Given the description of an element on the screen output the (x, y) to click on. 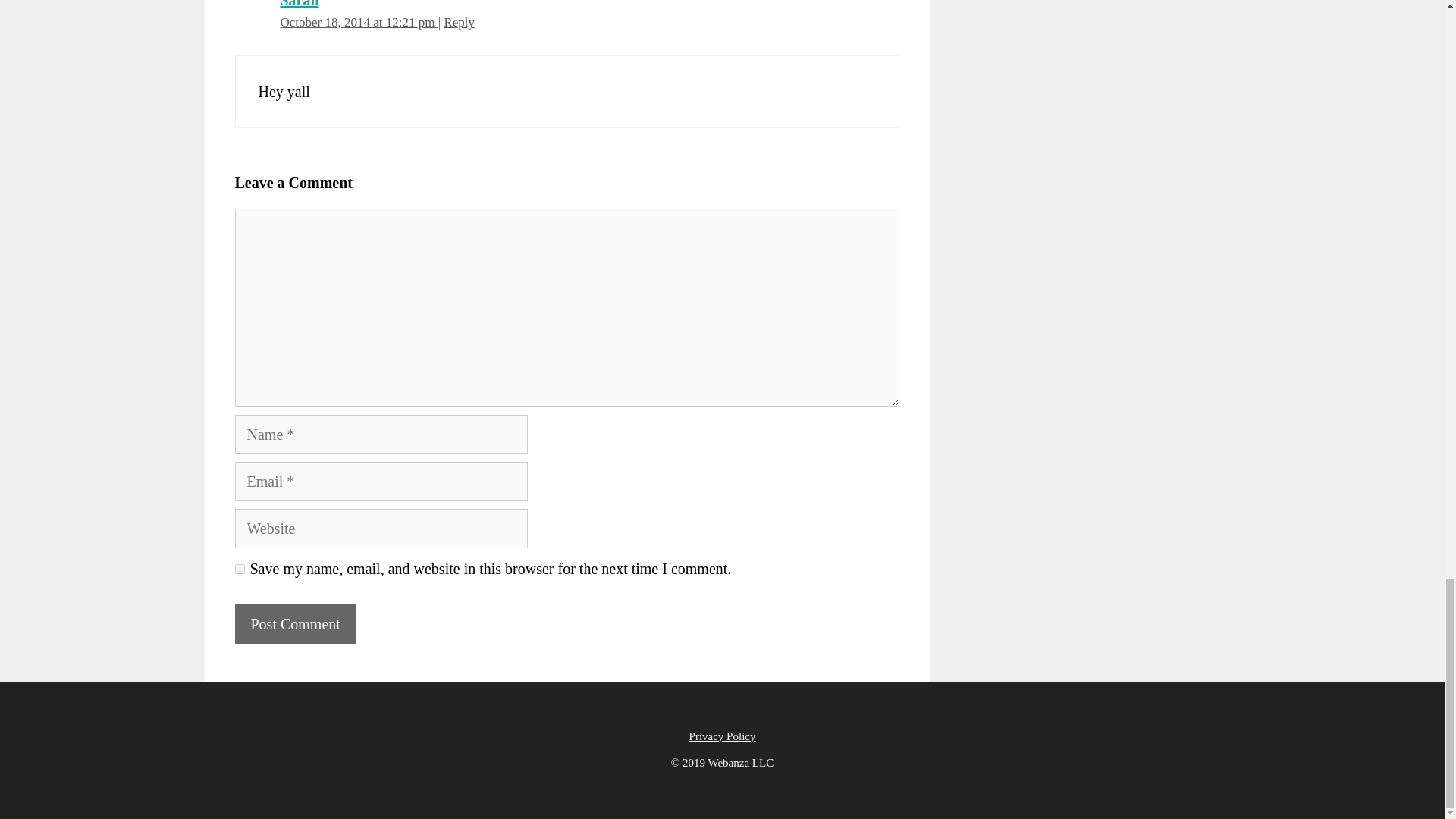
Sarah (299, 4)
Post Comment (295, 622)
Post Comment (295, 622)
October 18, 2014 at 12:21 pm (359, 22)
Reply (459, 22)
yes (239, 569)
